Given the description of an element on the screen output the (x, y) to click on. 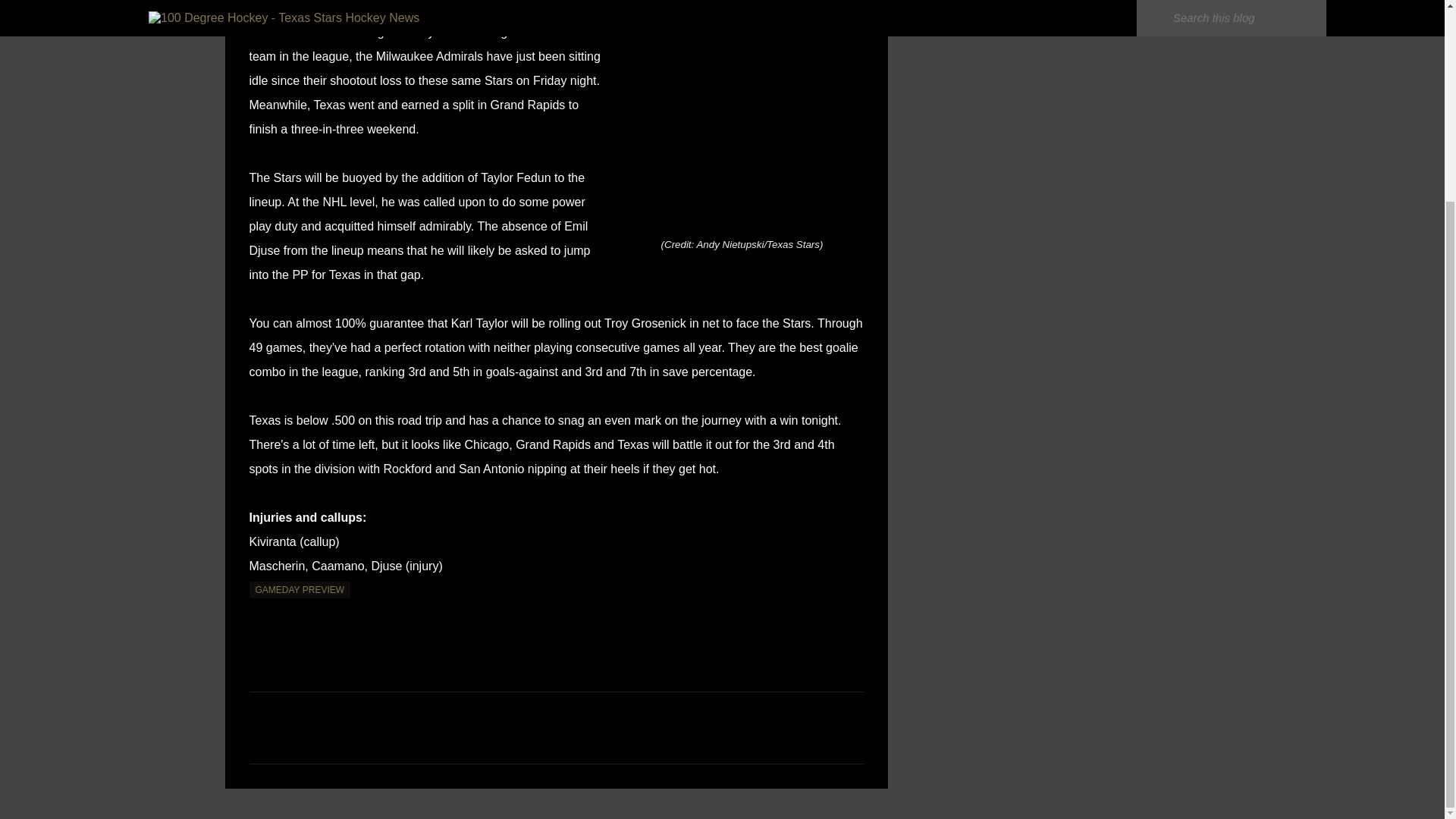
GAMEDAY PREVIEW (299, 589)
